Given the description of an element on the screen output the (x, y) to click on. 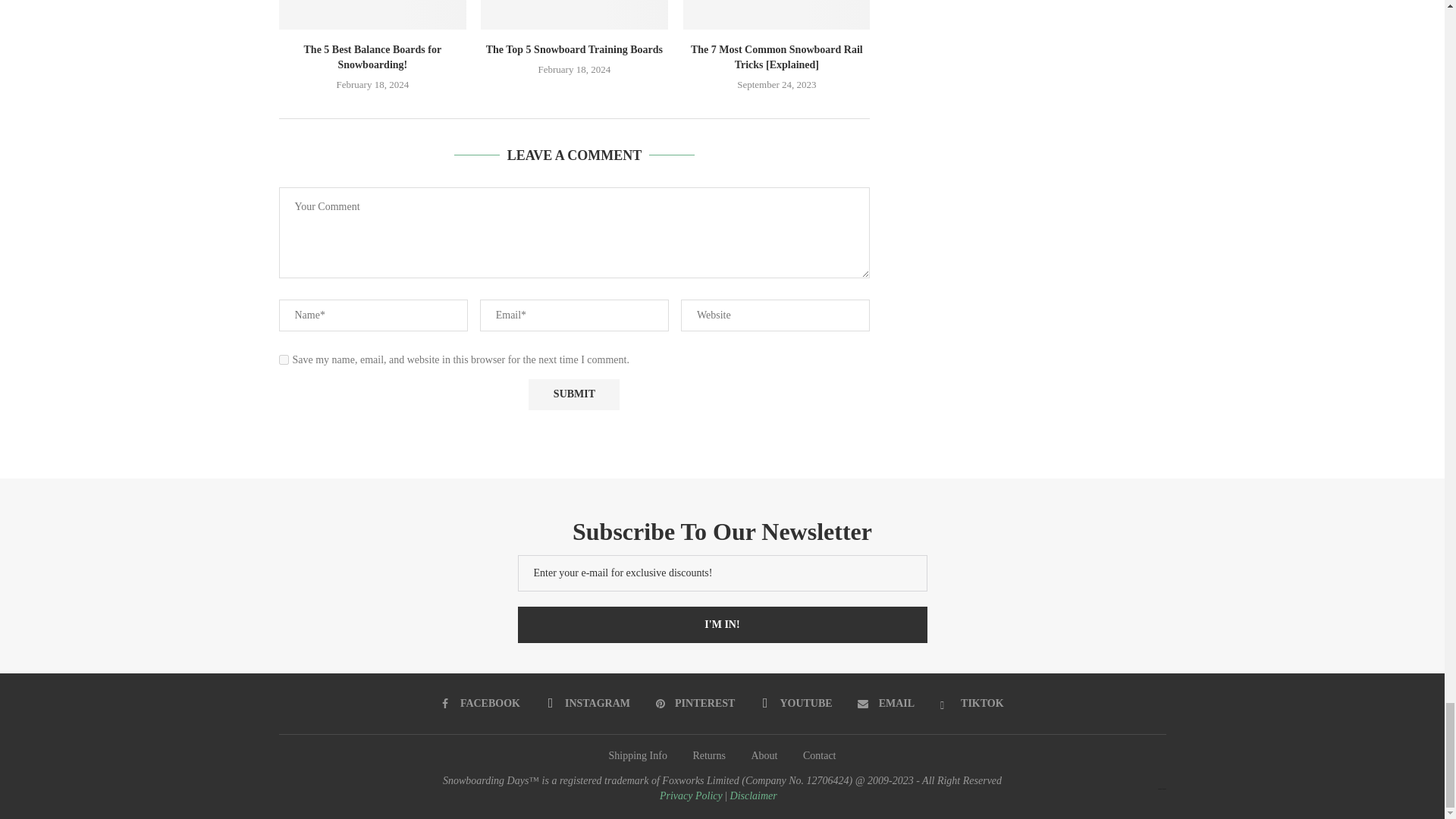
The Top 5 Snowboard Training Boards (574, 14)
The 5 Best Balance Boards for Snowboarding! (372, 14)
yes (283, 359)
Submit (574, 394)
I'm In! (721, 624)
